Given the description of an element on the screen output the (x, y) to click on. 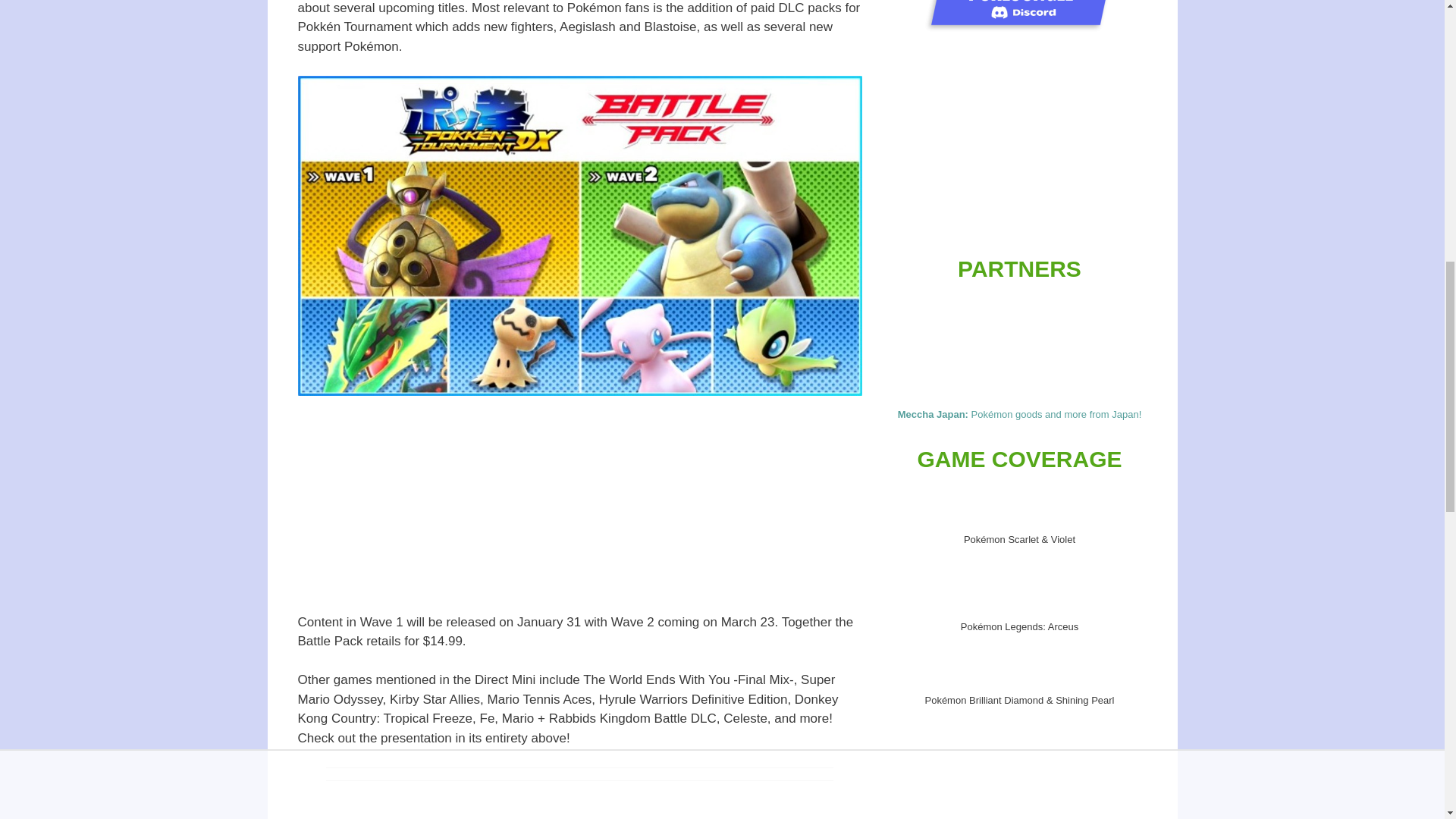
Scroll back to top (1406, 720)
